Given the description of an element on the screen output the (x, y) to click on. 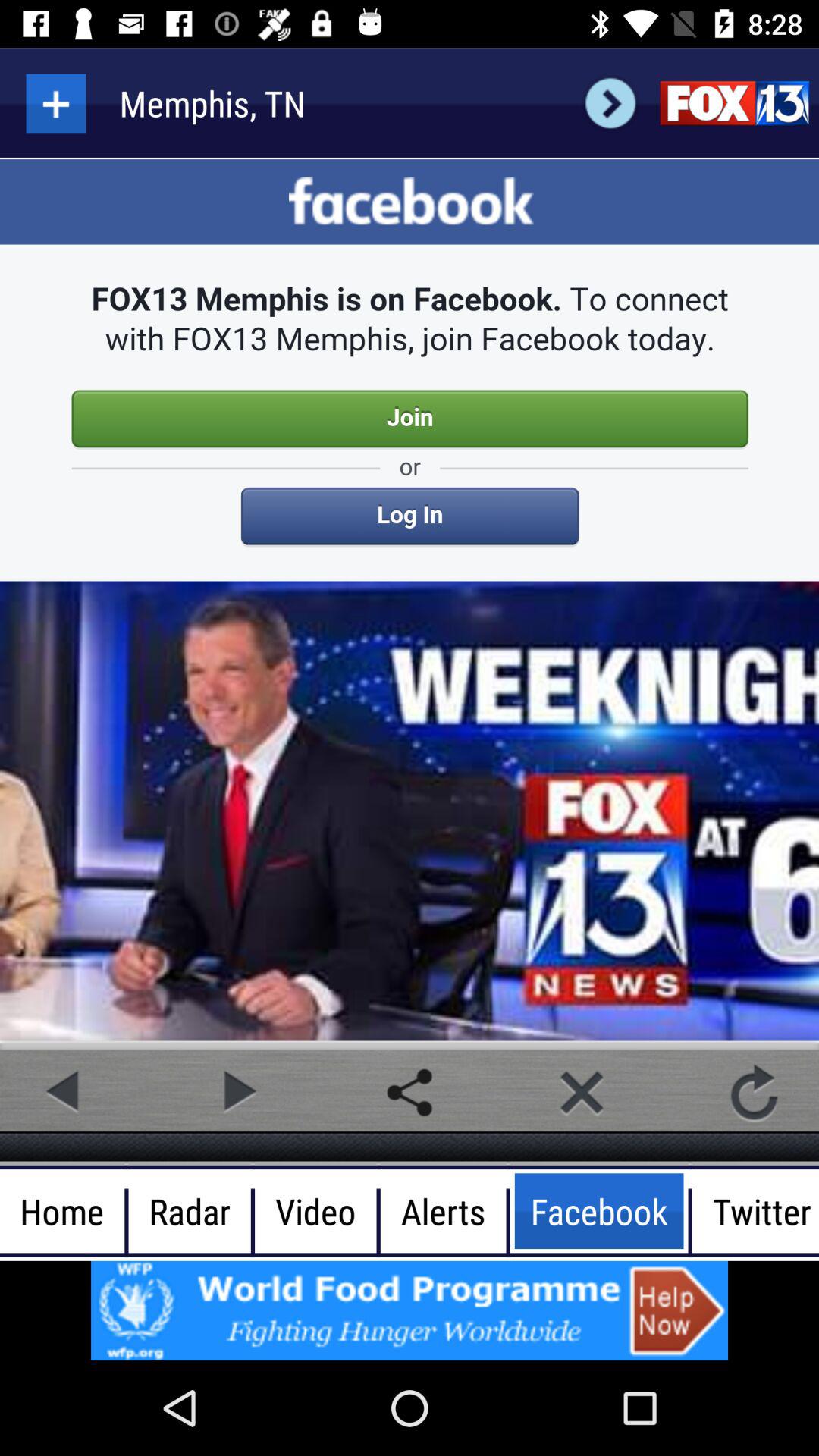
go to previous post (64, 1092)
